Given the description of an element on the screen output the (x, y) to click on. 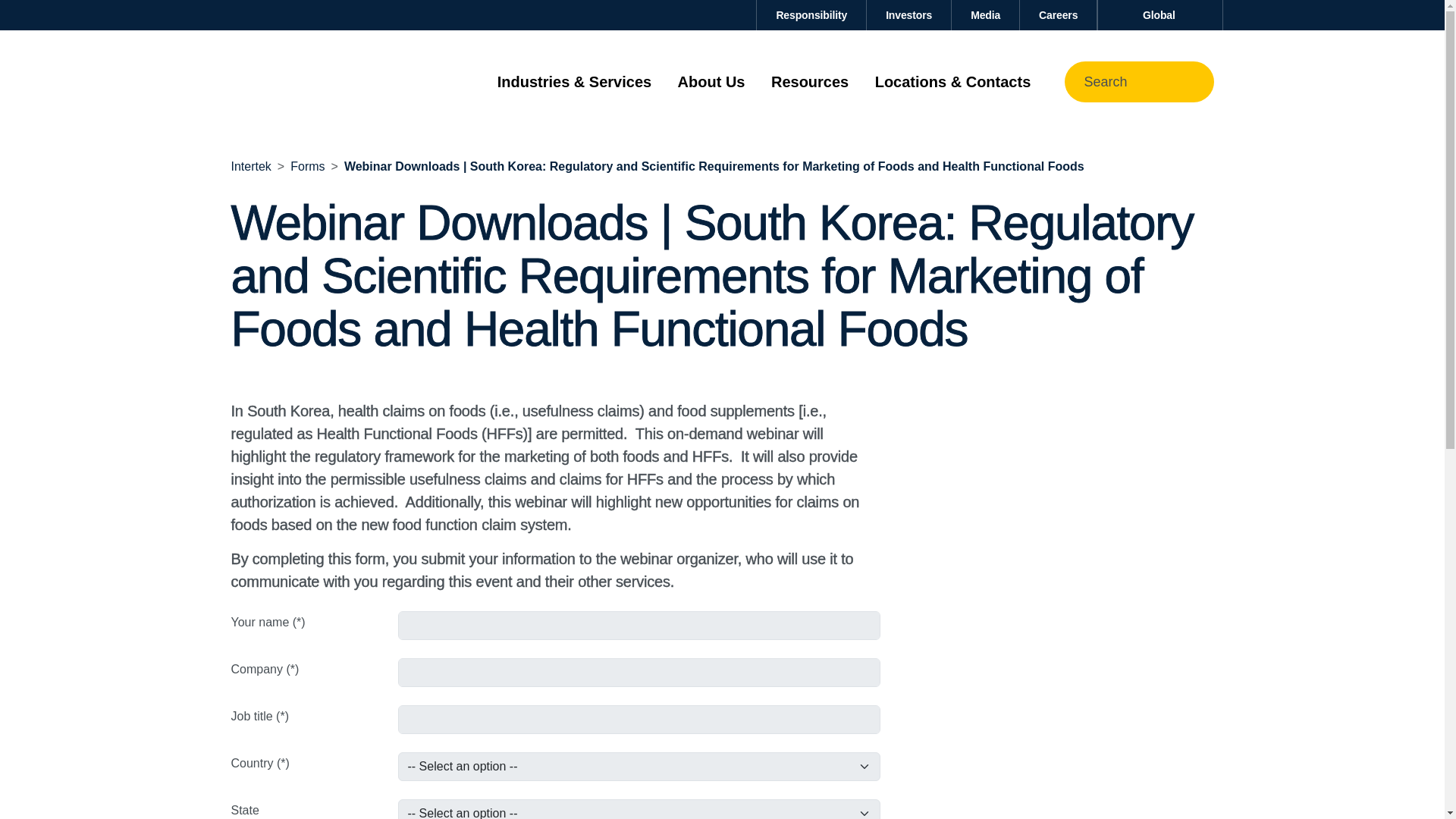
Forms (306, 165)
Intertek Intertek Brand Logo (304, 81)
Intertek Intertek Brand Logo (304, 81)
Intertek (250, 165)
